Given the description of an element on the screen output the (x, y) to click on. 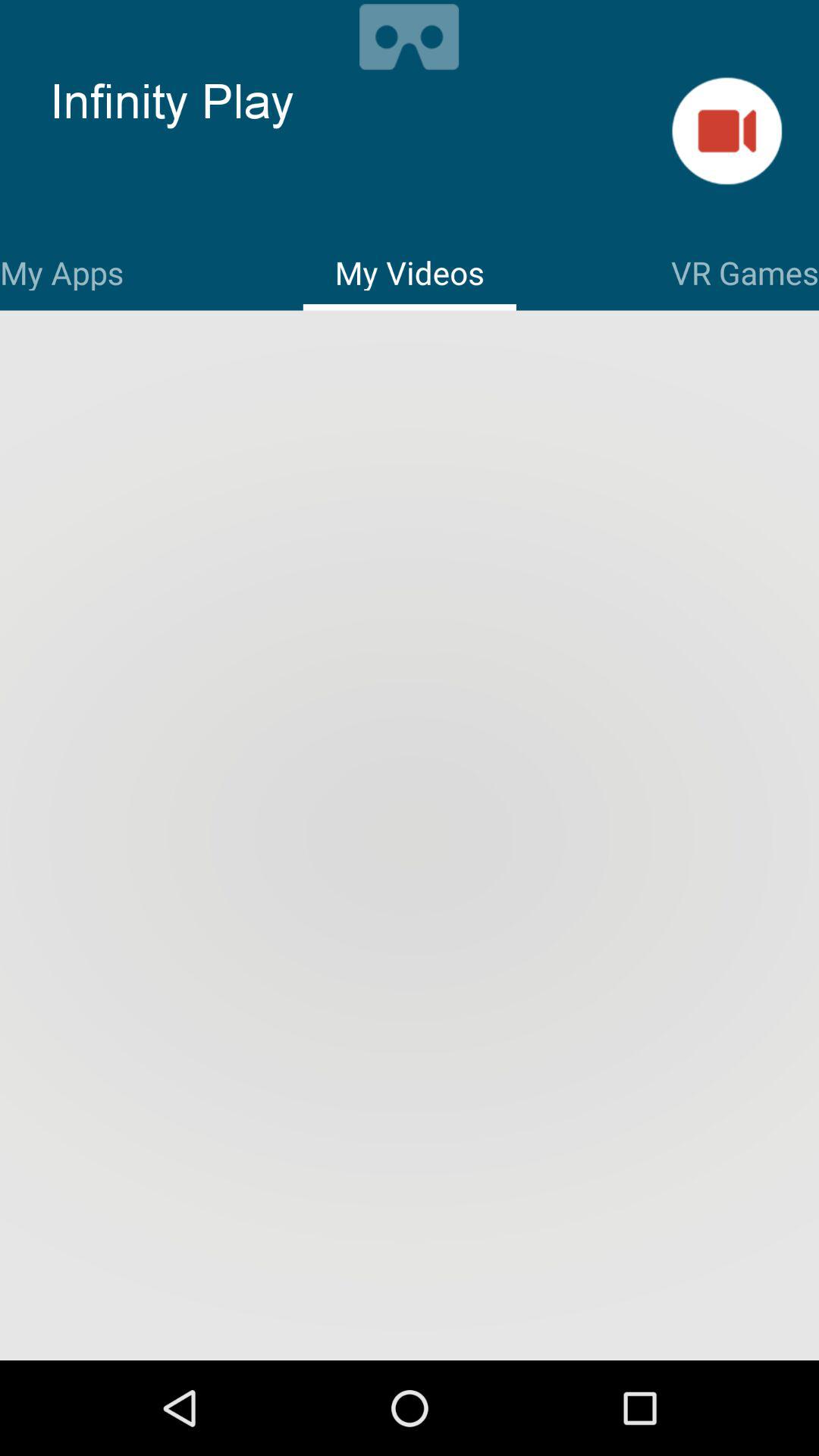
turn on item next to my videos item (61, 270)
